Given the description of an element on the screen output the (x, y) to click on. 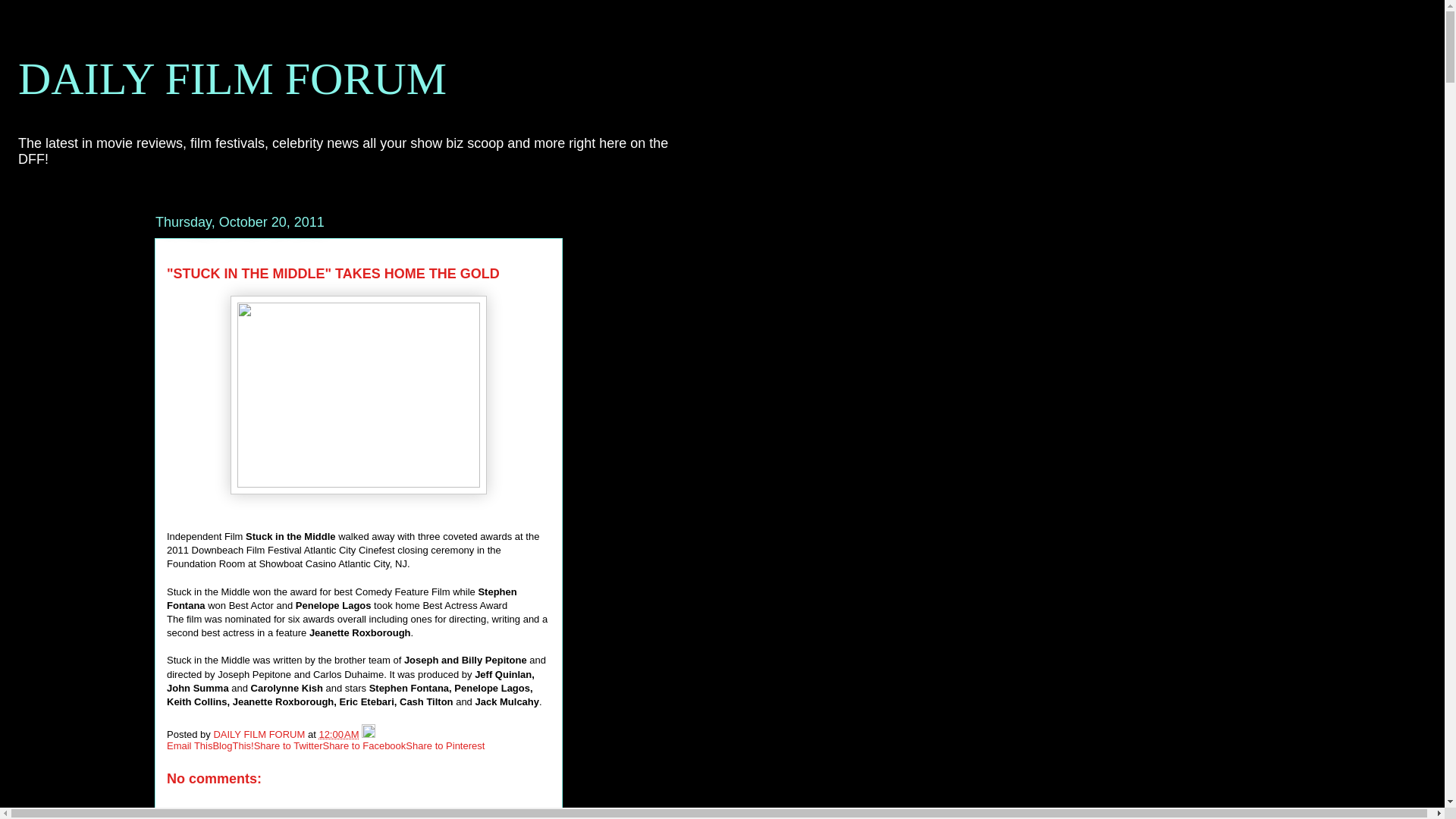
Share to Facebook (363, 745)
Share to Pinterest (445, 745)
BlogThis! (232, 745)
permanent link (338, 734)
DAILY FILM FORUM (231, 79)
Share to Twitter (288, 745)
DAILY FILM FORUM (259, 734)
Share to Pinterest (445, 745)
Email This (189, 745)
author profile (259, 734)
Share to Twitter (288, 745)
Edit Post (368, 734)
Share to Facebook (363, 745)
BlogThis! (232, 745)
